Given the description of an element on the screen output the (x, y) to click on. 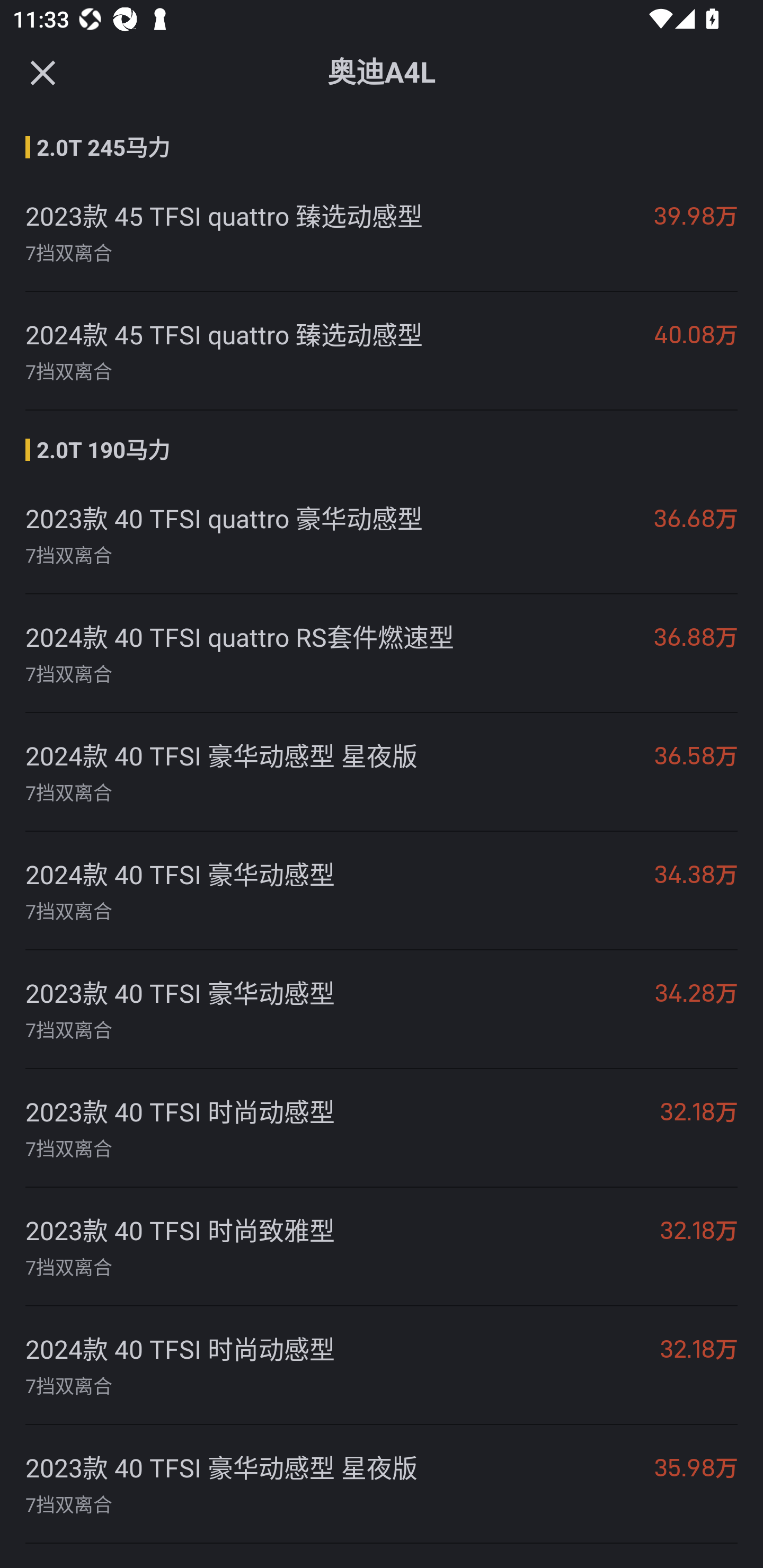
 (42, 72)
2023款 45 TFSI quattro 臻选动感型 39.98万 7挡双离合 (381, 231)
2024款 45 TFSI quattro 臻选动感型 40.08万 7挡双离合 (381, 350)
2023款 40 TFSI quattro 豪华动感型 36.68万 7挡双离合 (381, 534)
2024款 40 TFSI quattro RS套件燃速型 36.88万 7挡双离合 (381, 653)
2024款 40 TFSI 豪华动感型 星夜版 36.58万 7挡双离合 (381, 772)
2024款 40 TFSI 豪华动感型 34.38万 7挡双离合 (381, 890)
2023款 40 TFSI 豪华动感型 34.28万 7挡双离合 (381, 1009)
2023款 40 TFSI 时尚动感型 32.18万 7挡双离合 (381, 1127)
2023款 40 TFSI 时尚致雅型 32.18万 7挡双离合 (381, 1246)
2024款 40 TFSI 时尚动感型 32.18万 7挡双离合 (381, 1365)
2023款 40 TFSI 豪华动感型 星夜版 35.98万 7挡双离合 (381, 1483)
